Given the description of an element on the screen output the (x, y) to click on. 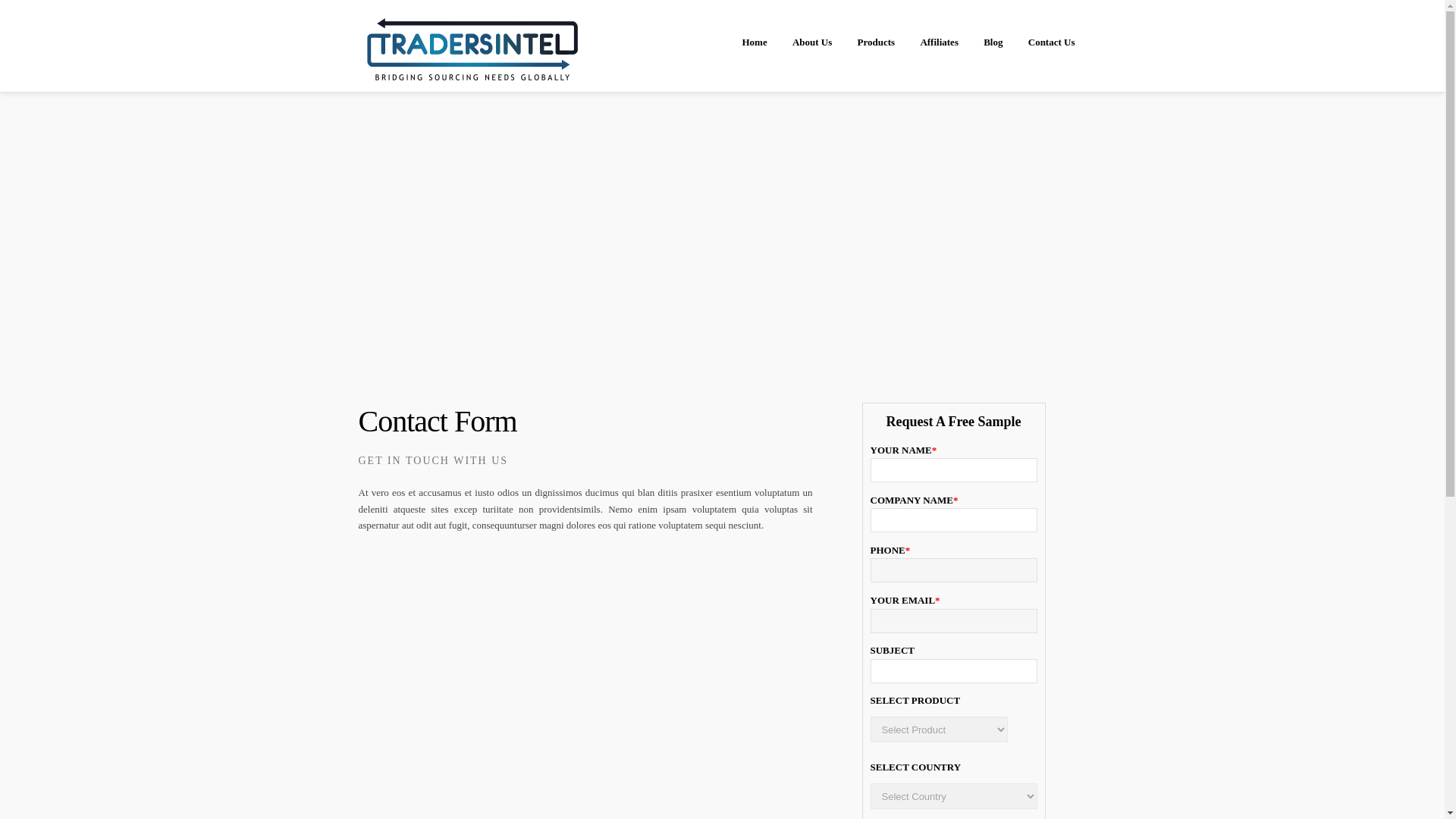
About Us (811, 42)
Contact Us (1051, 42)
Affiliates (938, 42)
Products (876, 42)
